Given the description of an element on the screen output the (x, y) to click on. 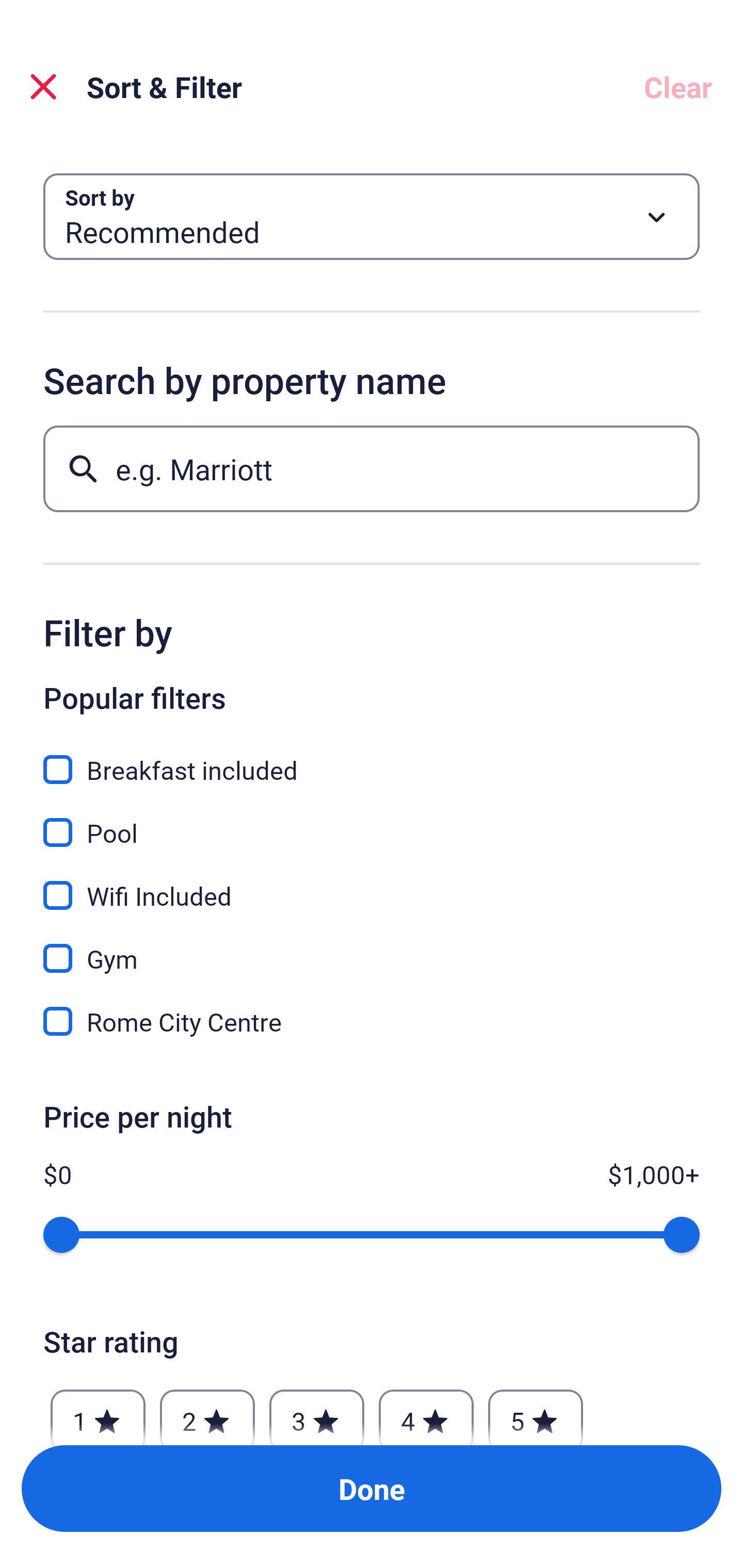
Close Sort and Filter (43, 86)
Clear (677, 86)
Sort by Button Recommended (371, 217)
e.g. Marriott Button (371, 468)
Breakfast included, Breakfast included (371, 757)
Pool, Pool (371, 821)
Wifi Included, Wifi Included (371, 883)
Gym, Gym (371, 946)
Rome City Centre, Rome City Centre (371, 1021)
1 (97, 1411)
2 (206, 1411)
3 (316, 1411)
4 (426, 1411)
5 (535, 1411)
Apply and close Sort and Filter Done (371, 1488)
